Given the description of an element on the screen output the (x, y) to click on. 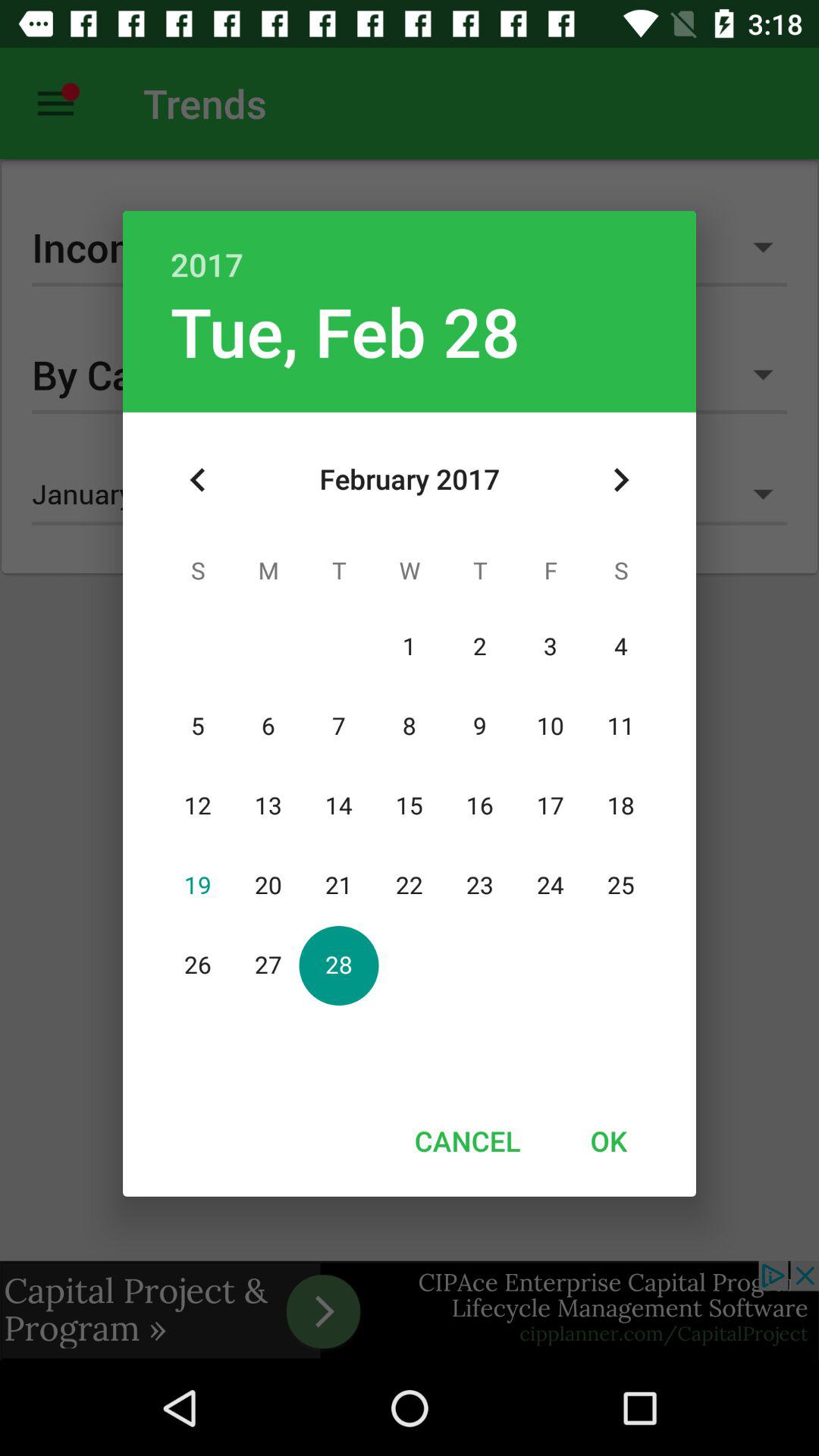
swipe to the cancel icon (467, 1140)
